Given the description of an element on the screen output the (x, y) to click on. 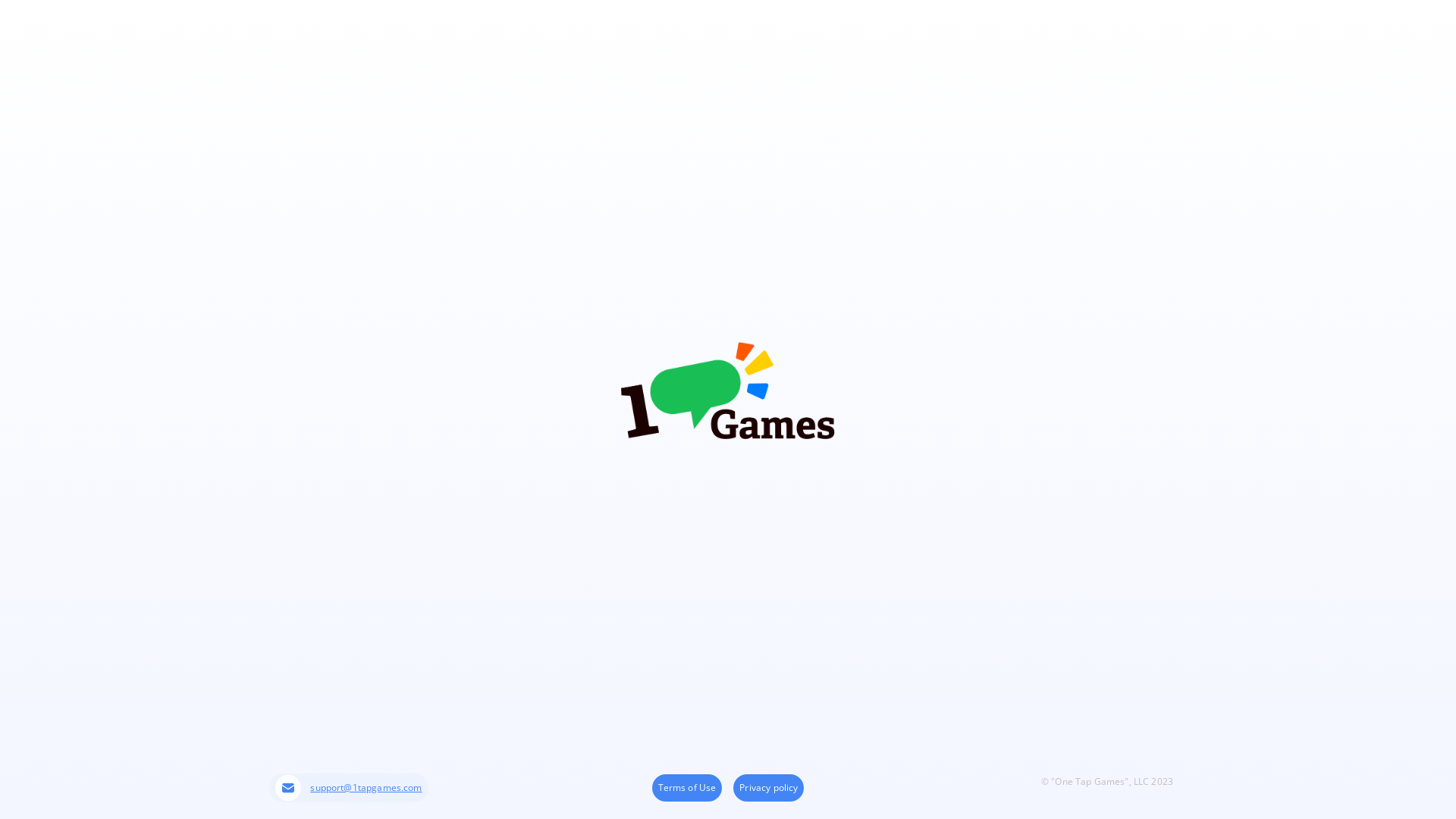
support@1tapgames.com Element type: text (348, 787)
Terms of Use Element type: text (687, 786)
Privacy policy Element type: text (768, 786)
